Given the description of an element on the screen output the (x, y) to click on. 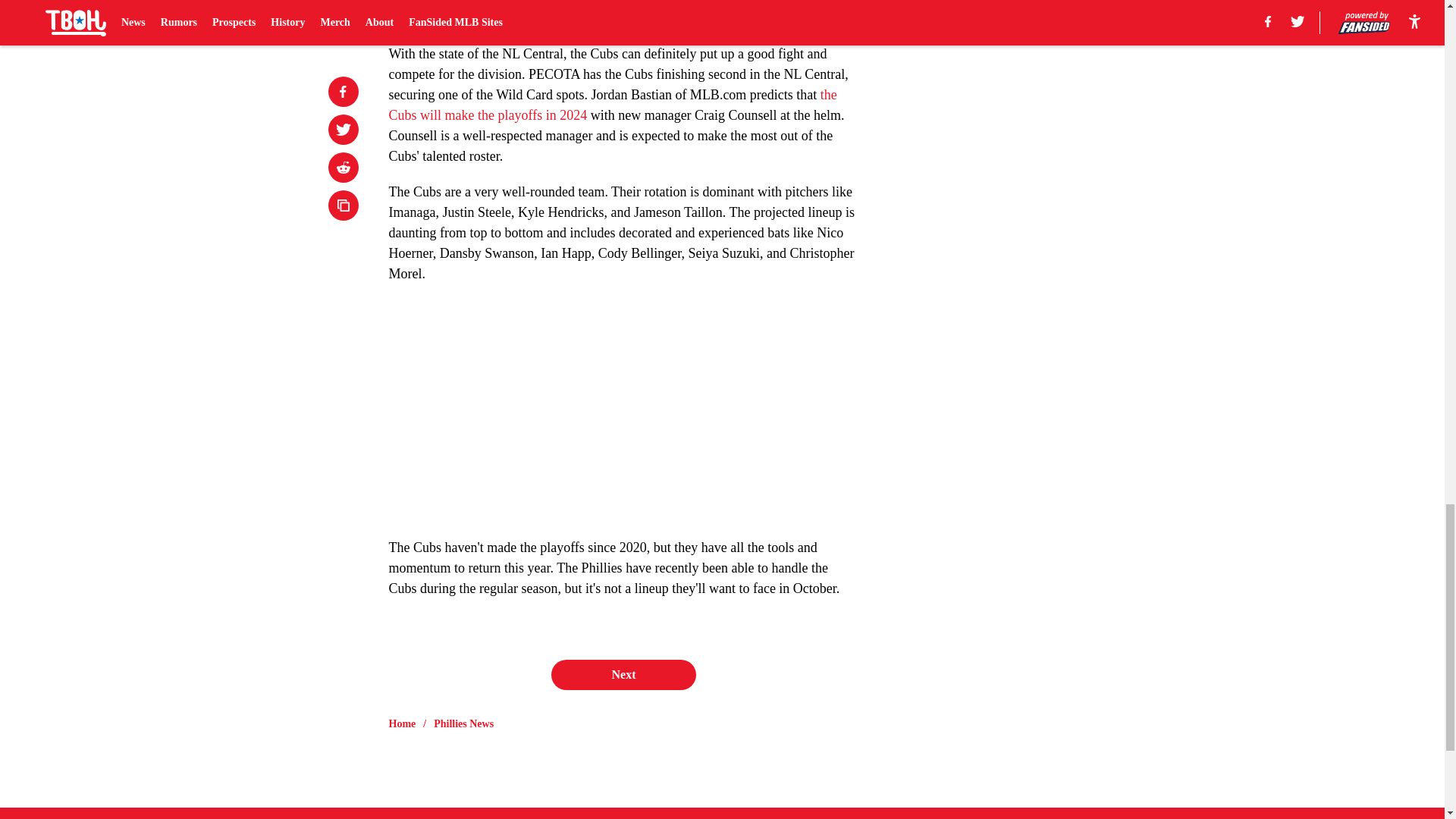
Phillies News (463, 724)
the Cubs will make the playoffs in 2024 (611, 104)
Next (622, 675)
Home (401, 724)
